Given the description of an element on the screen output the (x, y) to click on. 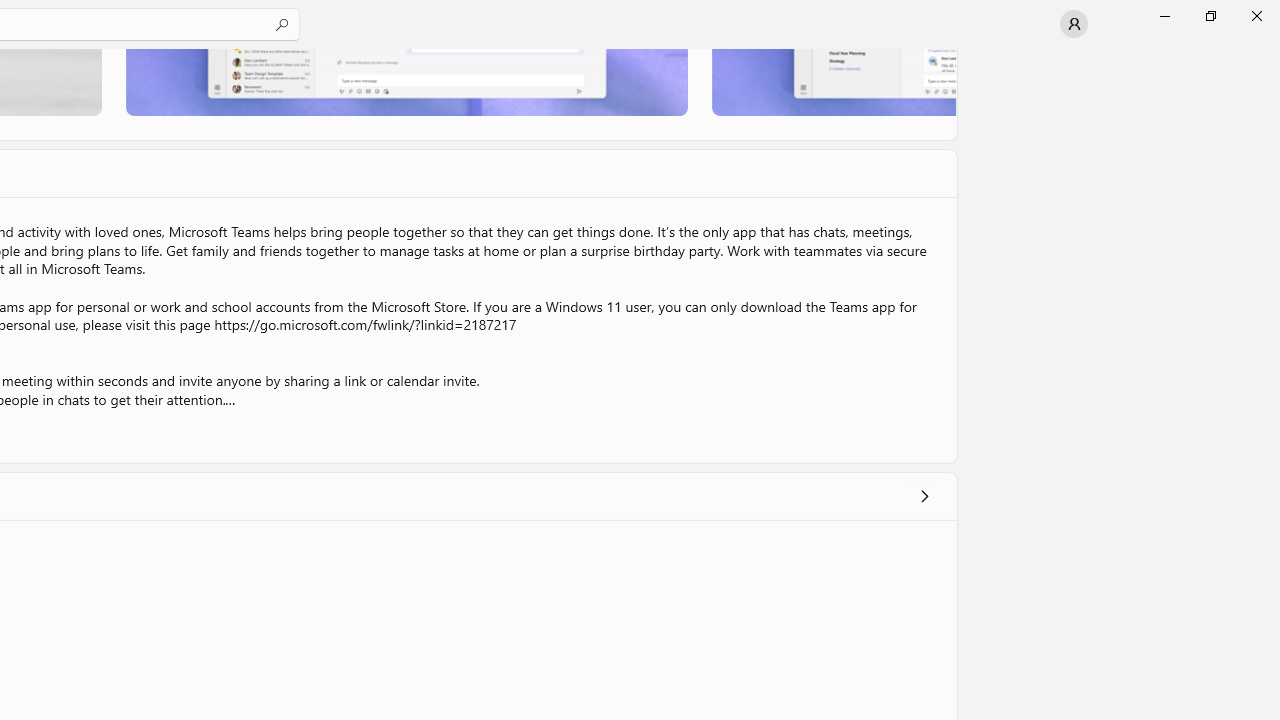
Screenshot 3 (833, 81)
Show all ratings and reviews (924, 495)
Screenshot 2 (406, 81)
